Given the description of an element on the screen output the (x, y) to click on. 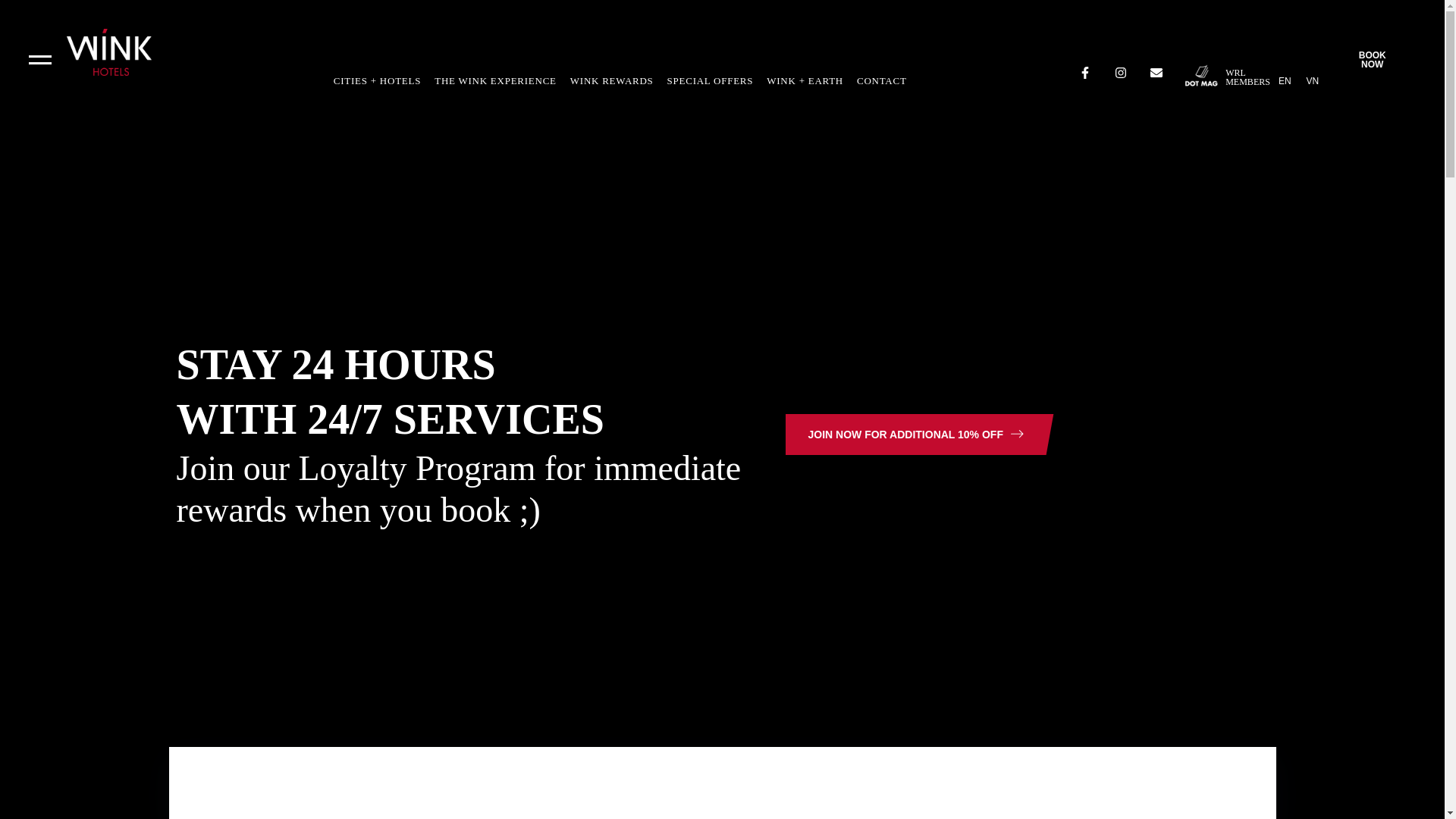
VN (1312, 81)
CONTACT (882, 80)
dot-mag (1201, 74)
THE WINK EXPERIENCE (494, 80)
EN (1247, 76)
BOOK NOW (1284, 81)
SPECIAL OFFERS (1372, 59)
WINK REWARDS (710, 80)
